Given the description of an element on the screen output the (x, y) to click on. 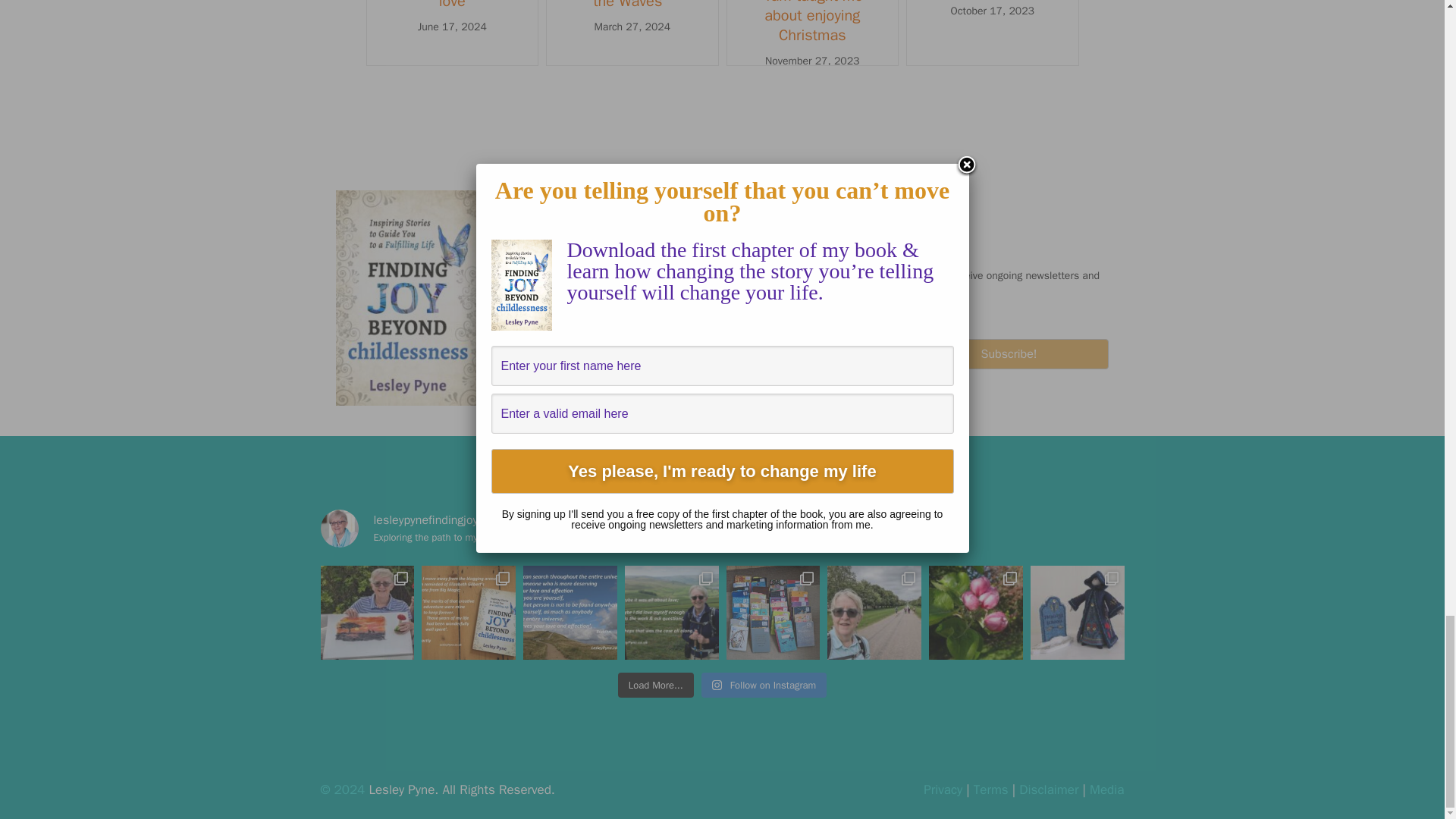
What getting up at 4am taught me about enjoying Christmas (811, 22)
It all boils down to love (451, 5)
What getting up at 4am taught me about enjoying Christmas (811, 22)
It all boils down to love (451, 5)
8 gifts of inspiration from Save Me from the Waves   (632, 5)
